Given the description of an element on the screen output the (x, y) to click on. 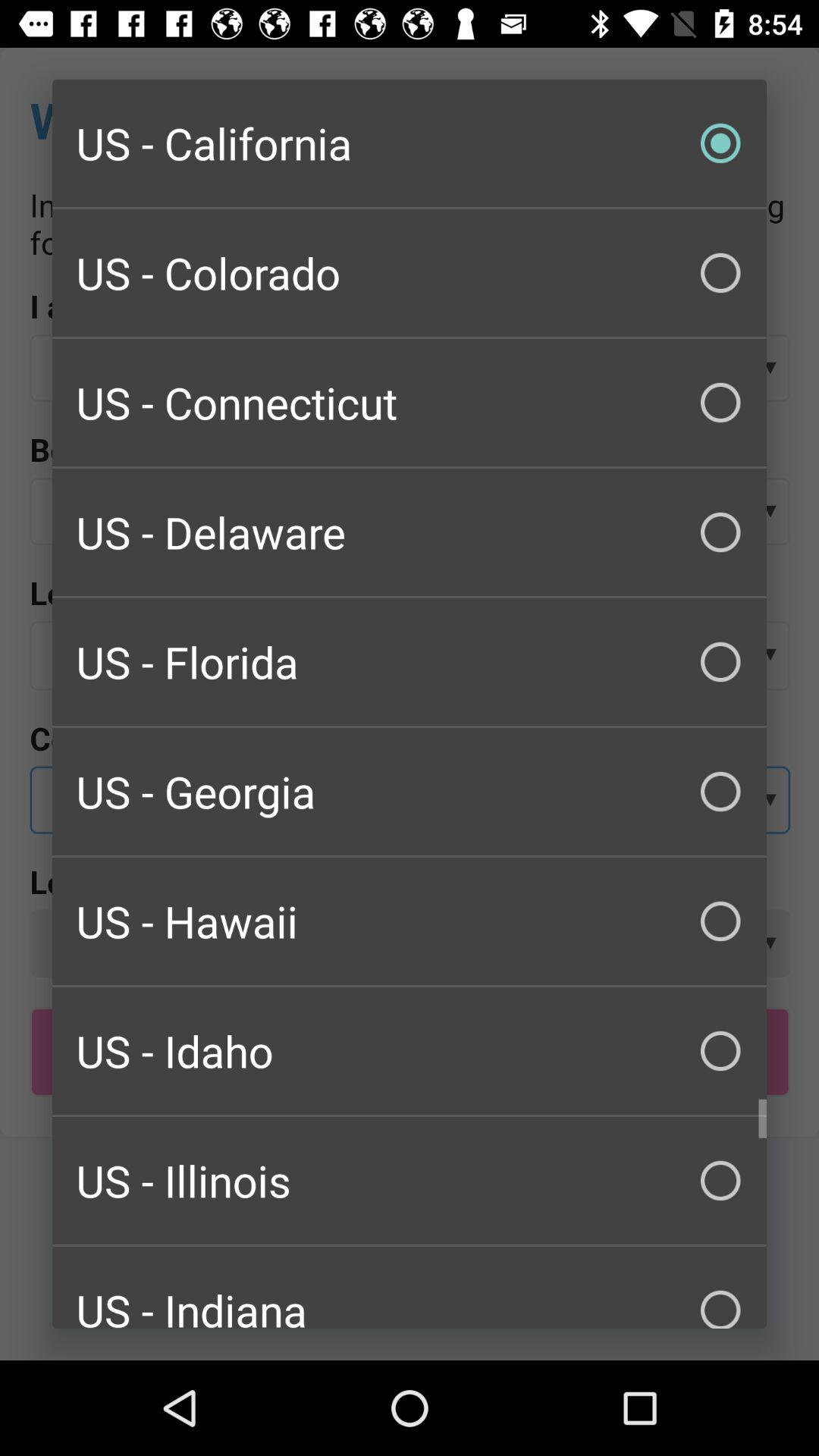
launch the item above us - illinois (409, 1050)
